Given the description of an element on the screen output the (x, y) to click on. 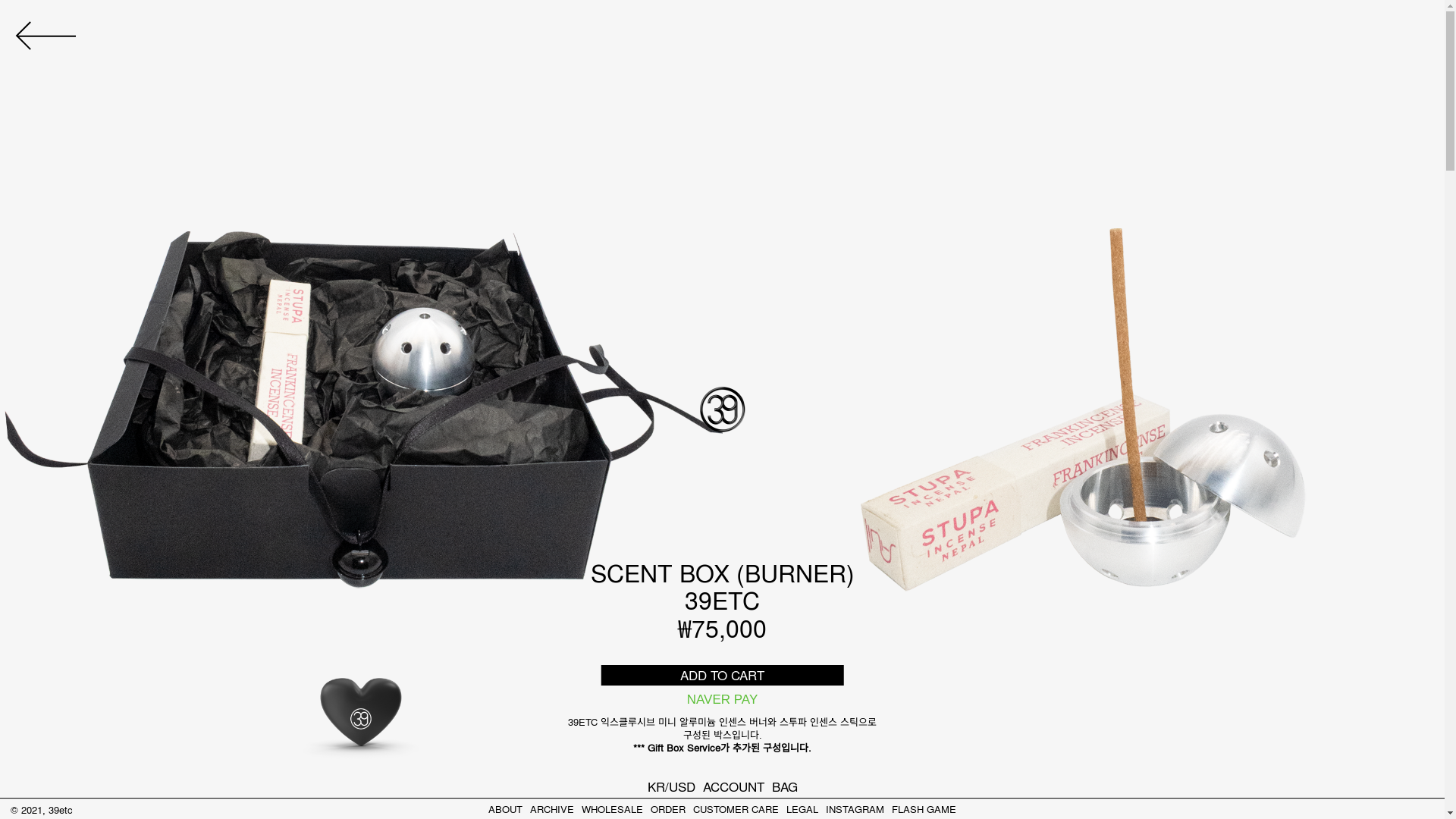
ACCOUNT Element type: text (732, 785)
FLASH GAME Element type: text (923, 808)
ADD TO CART Element type: text (721, 675)
KR/USD Element type: text (671, 785)
ARCHIVE Element type: text (552, 808)
WHOLESALE Element type: text (612, 808)
LEGAL Element type: text (802, 808)
ABOUT Element type: text (505, 808)
INSTAGRAM Element type: text (854, 808)
CUSTOMER CARE Element type: text (735, 808)
ORDER Element type: text (667, 808)
BAG Element type: text (784, 785)
